Given the description of an element on the screen output the (x, y) to click on. 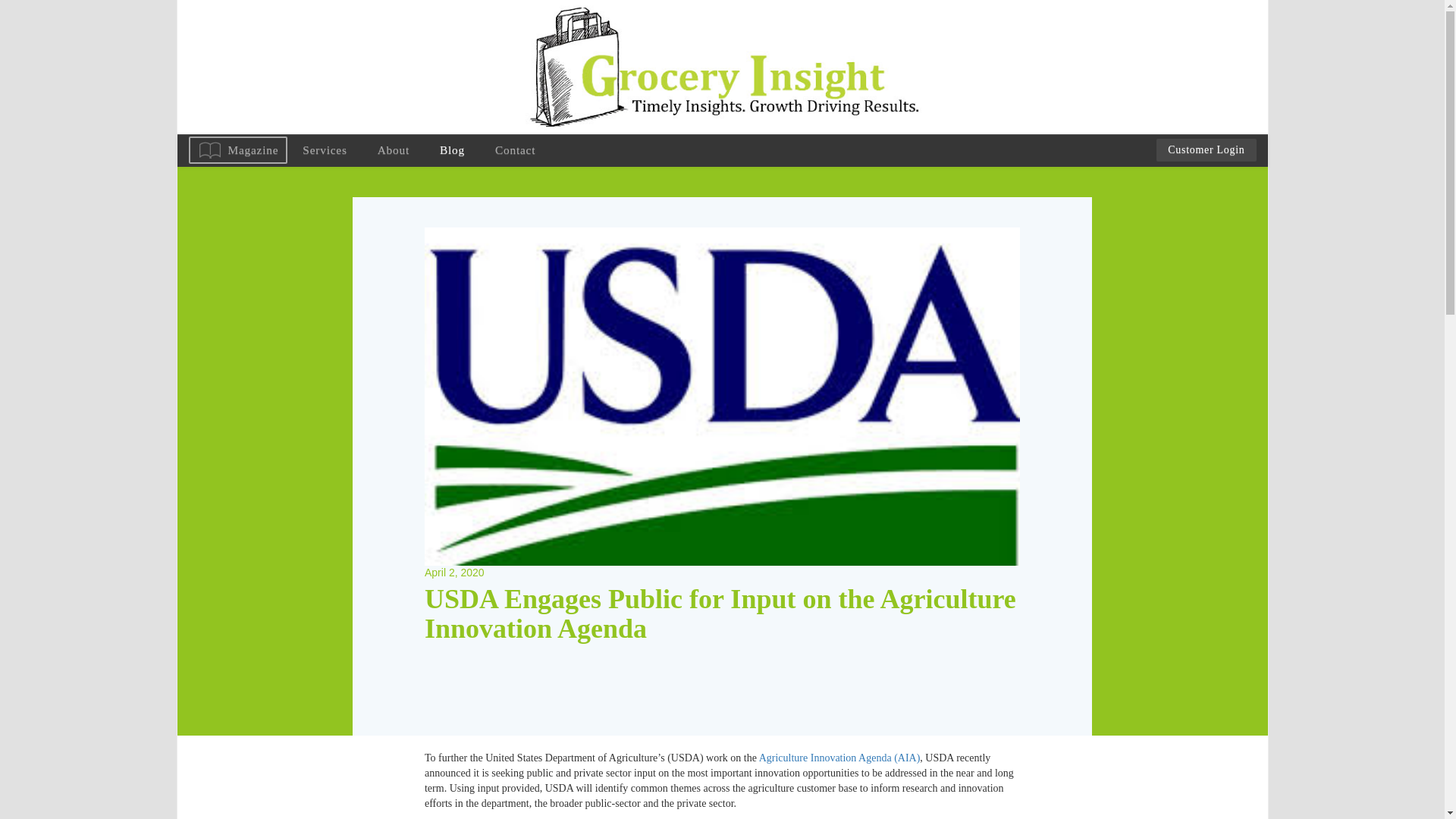
Contact (515, 149)
Customer Login (1205, 149)
About (393, 149)
Blog (452, 149)
Services (323, 149)
Magazine (237, 150)
